Given the description of an element on the screen output the (x, y) to click on. 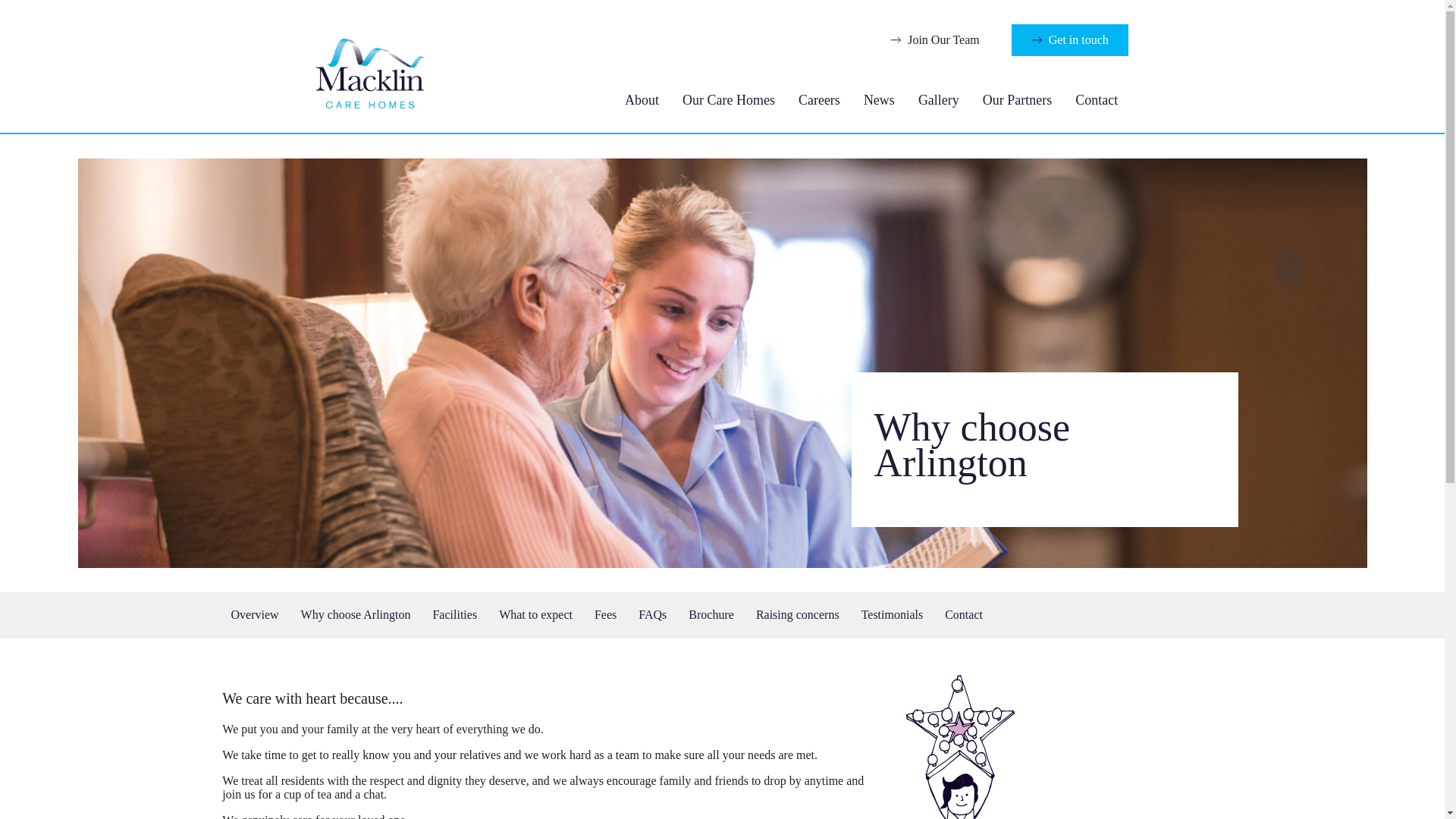
What to expect (534, 615)
Brochure (710, 615)
Contact (963, 615)
Testimonials (892, 615)
Facilities (454, 615)
Overview (253, 615)
Why choose Arlington (356, 615)
Our Care Homes (727, 100)
Get in touch (1069, 40)
Our Partners (1016, 100)
